Given the description of an element on the screen output the (x, y) to click on. 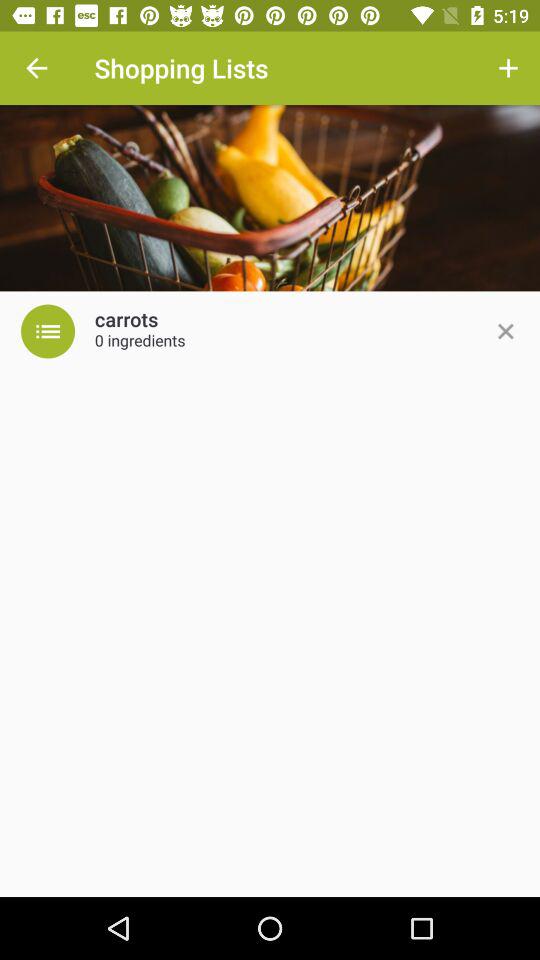
launch icon to the right of 0 ingredients icon (505, 331)
